Given the description of an element on the screen output the (x, y) to click on. 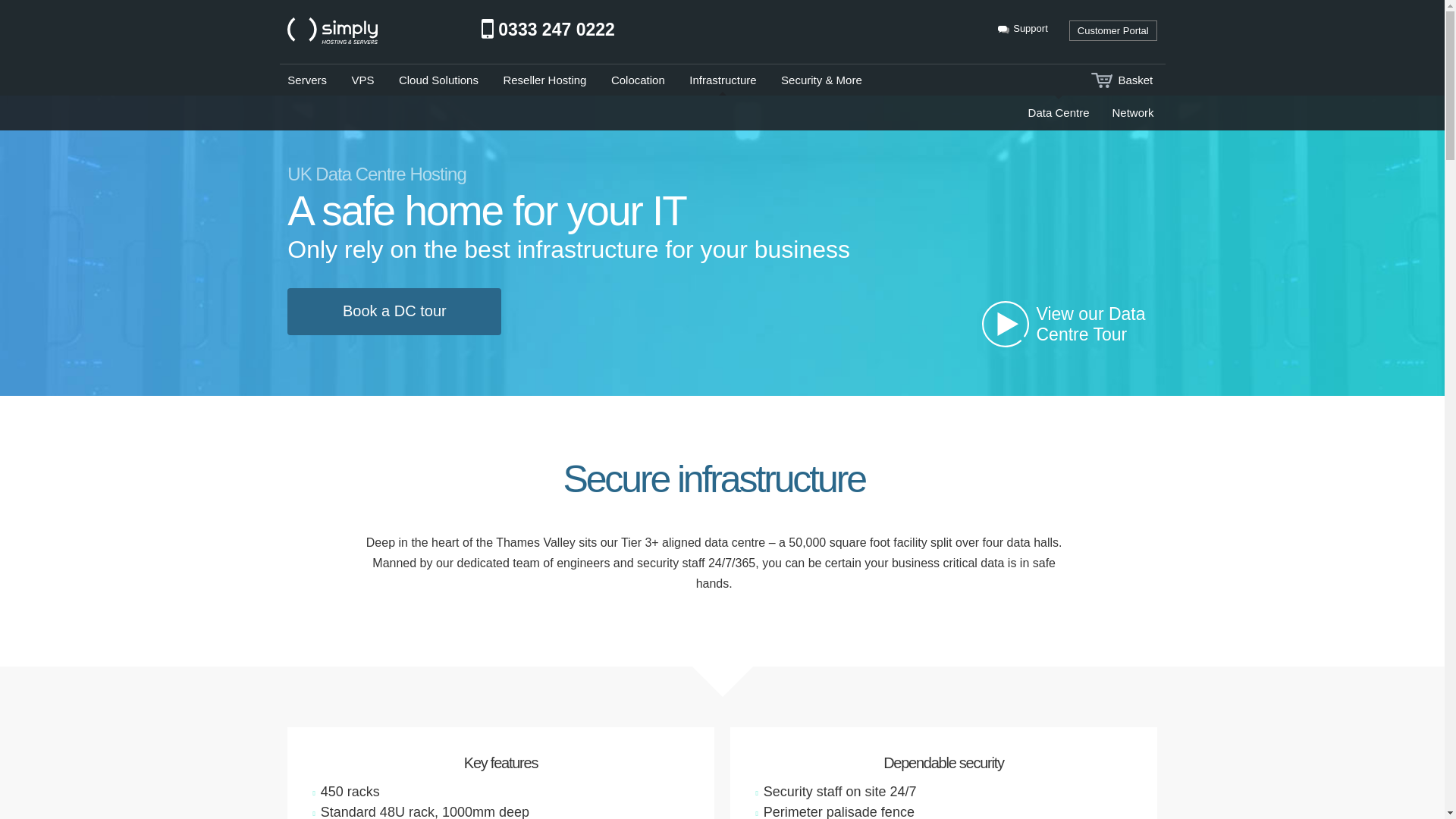
Colocation (638, 79)
Go to your Online Control Panel (1113, 30)
Click here if you need some help (1022, 29)
Infrastructure (721, 79)
Support (1022, 29)
Customer Portal (1113, 30)
Reseller Hosting (544, 79)
simplyhosting.com (362, 30)
Servers (306, 79)
Cloud Solutions (438, 79)
